Given the description of an element on the screen output the (x, y) to click on. 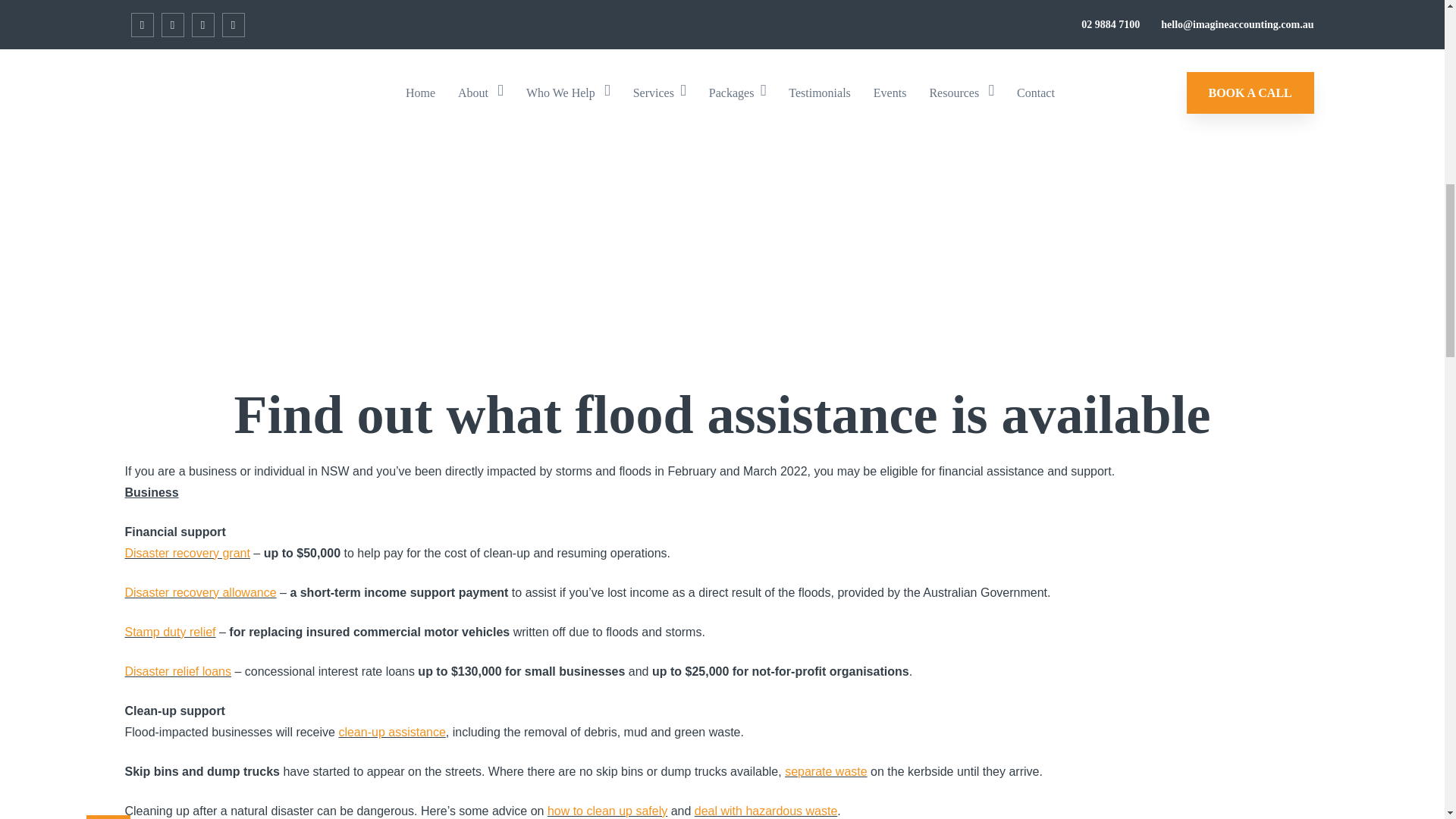
Back to top (108, 19)
